Given the description of an element on the screen output the (x, y) to click on. 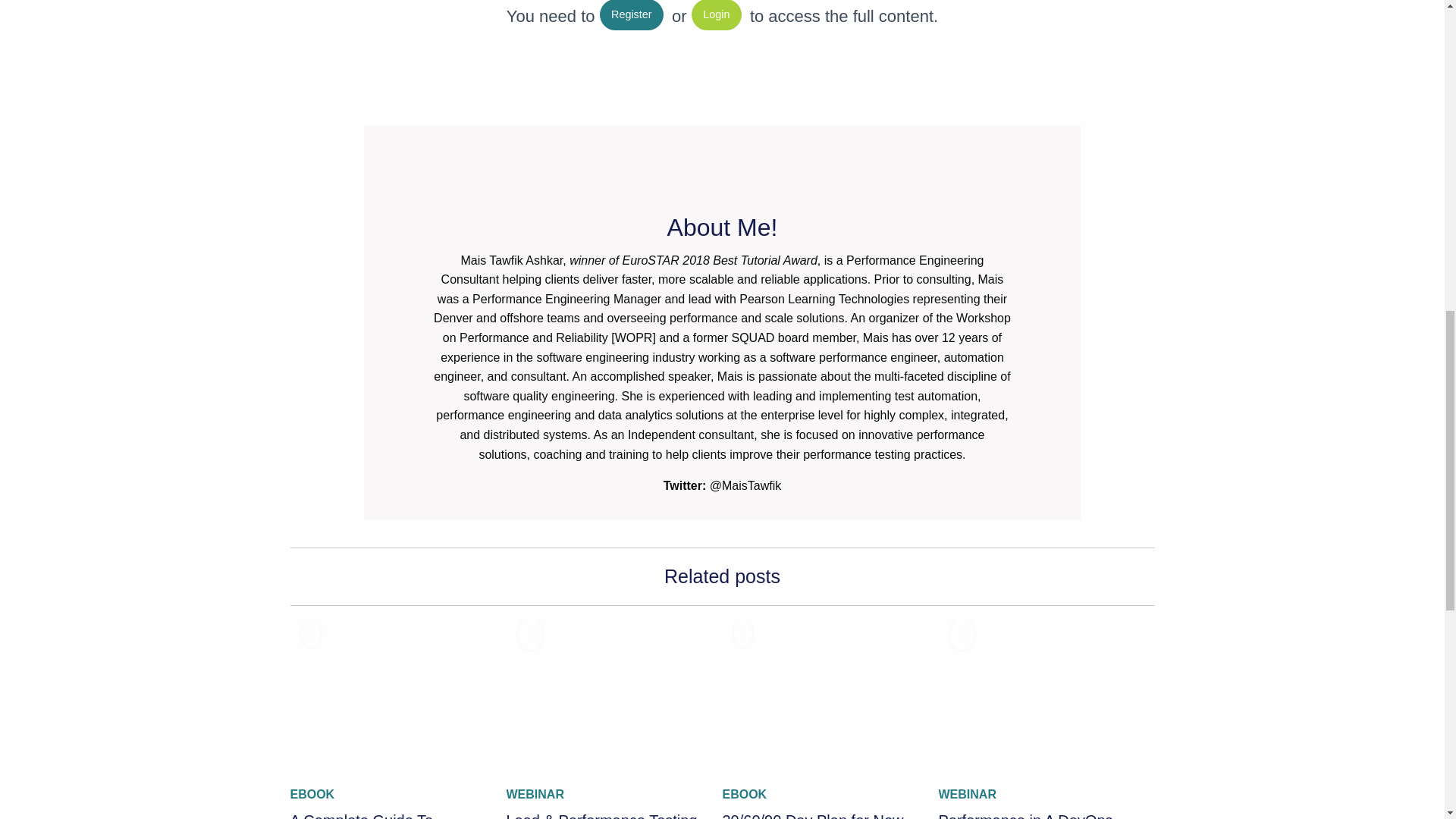
A Complete Guide To Responsive Web Testing (386, 696)
login (716, 15)
Performance in A DevOps World (1035, 696)
register (631, 15)
